Given the description of an element on the screen output the (x, y) to click on. 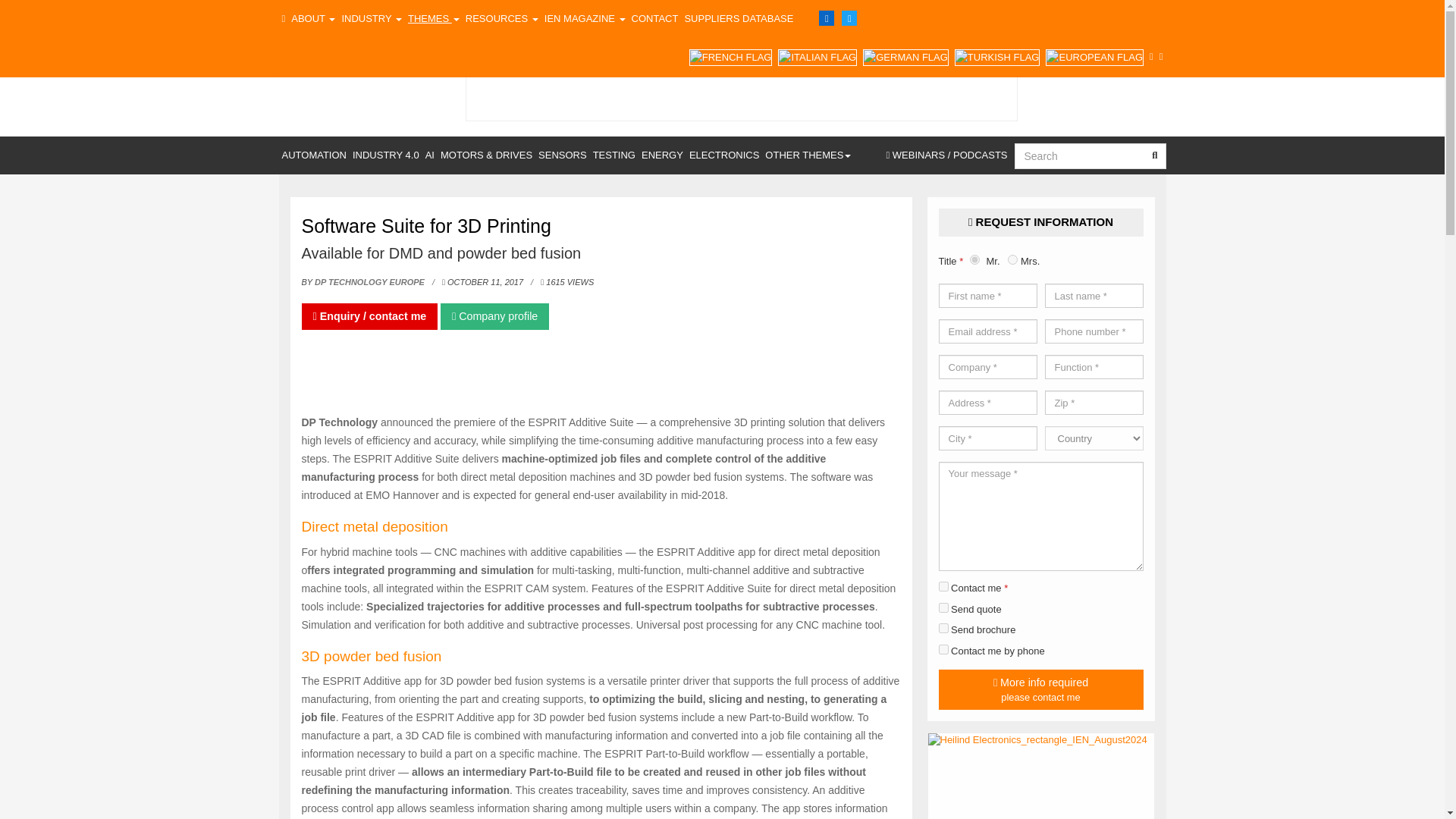
enquireForm.options.002 (944, 607)
Mrs (1012, 259)
ABOUT (312, 18)
enquireForm.options.001 (944, 628)
THEMES (433, 18)
enquireForm.options.003 (944, 649)
1 (944, 586)
Mr (974, 259)
IEN MAGAZINE (584, 18)
RESOURCES (502, 18)
